Given the description of an element on the screen output the (x, y) to click on. 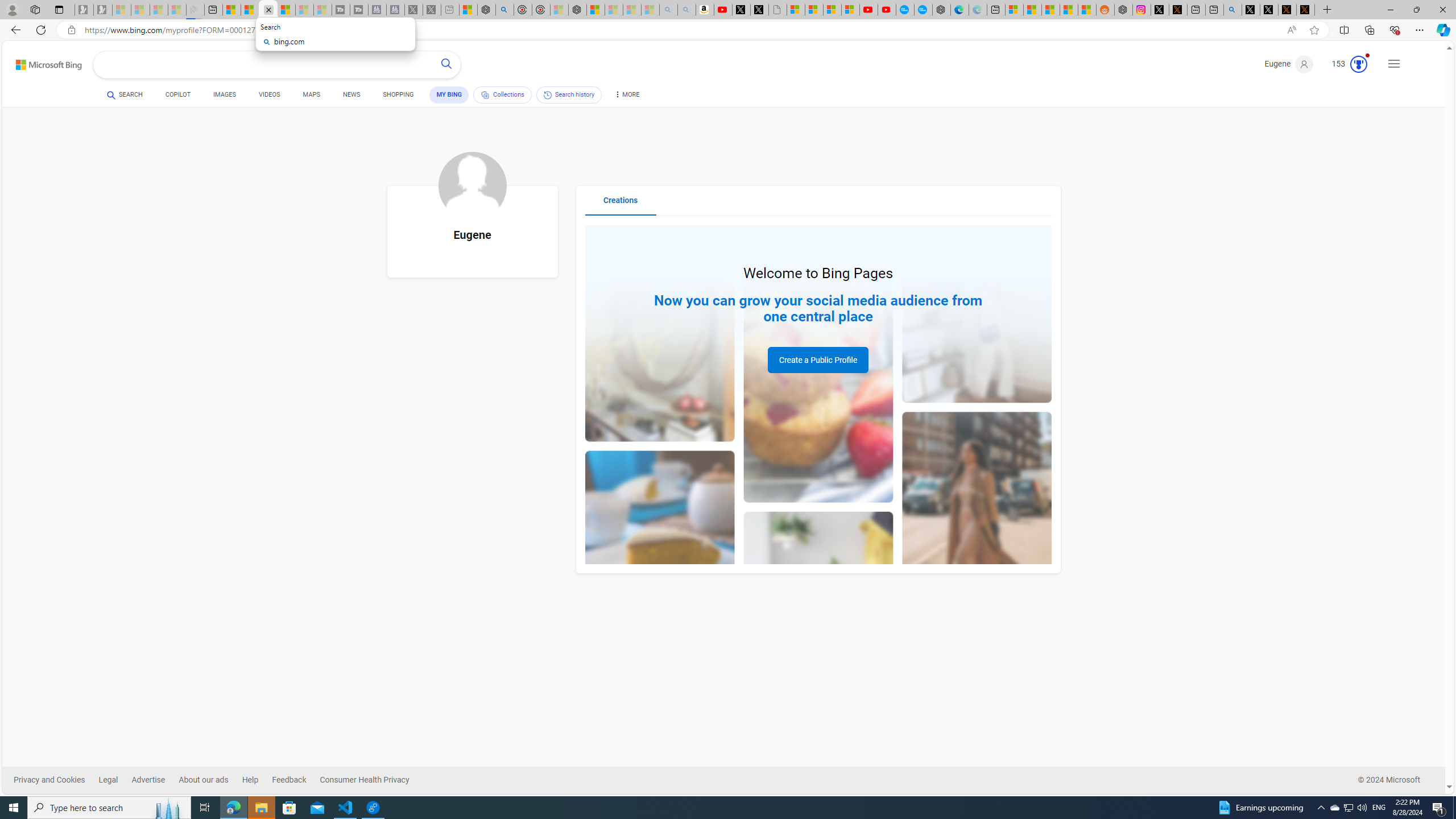
MORE (625, 96)
amazon - Search - Sleeping (668, 9)
VIDEOS (268, 96)
help.x.com | 524: A timeout occurred (1178, 9)
COPILOT (178, 96)
GitHub (@github) / X (1268, 9)
Microsoft account | Microsoft Account Privacy Settings (1013, 9)
